Given the description of an element on the screen output the (x, y) to click on. 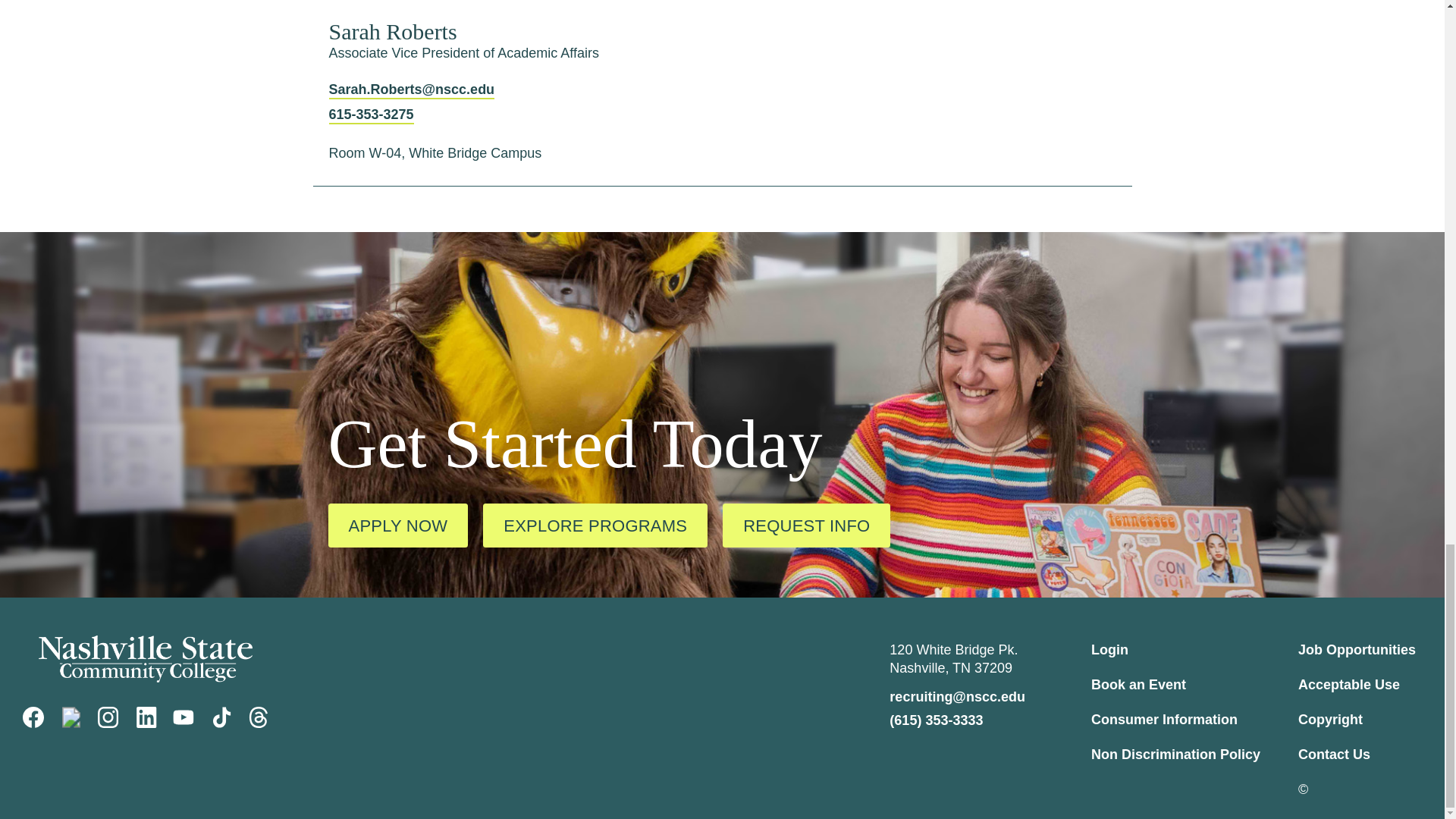
tiktok (221, 717)
instagram (108, 717)
threads (258, 717)
nashville home page (145, 658)
youtube (183, 717)
linkedin (145, 717)
facebook (33, 717)
X (71, 717)
